Given the description of an element on the screen output the (x, y) to click on. 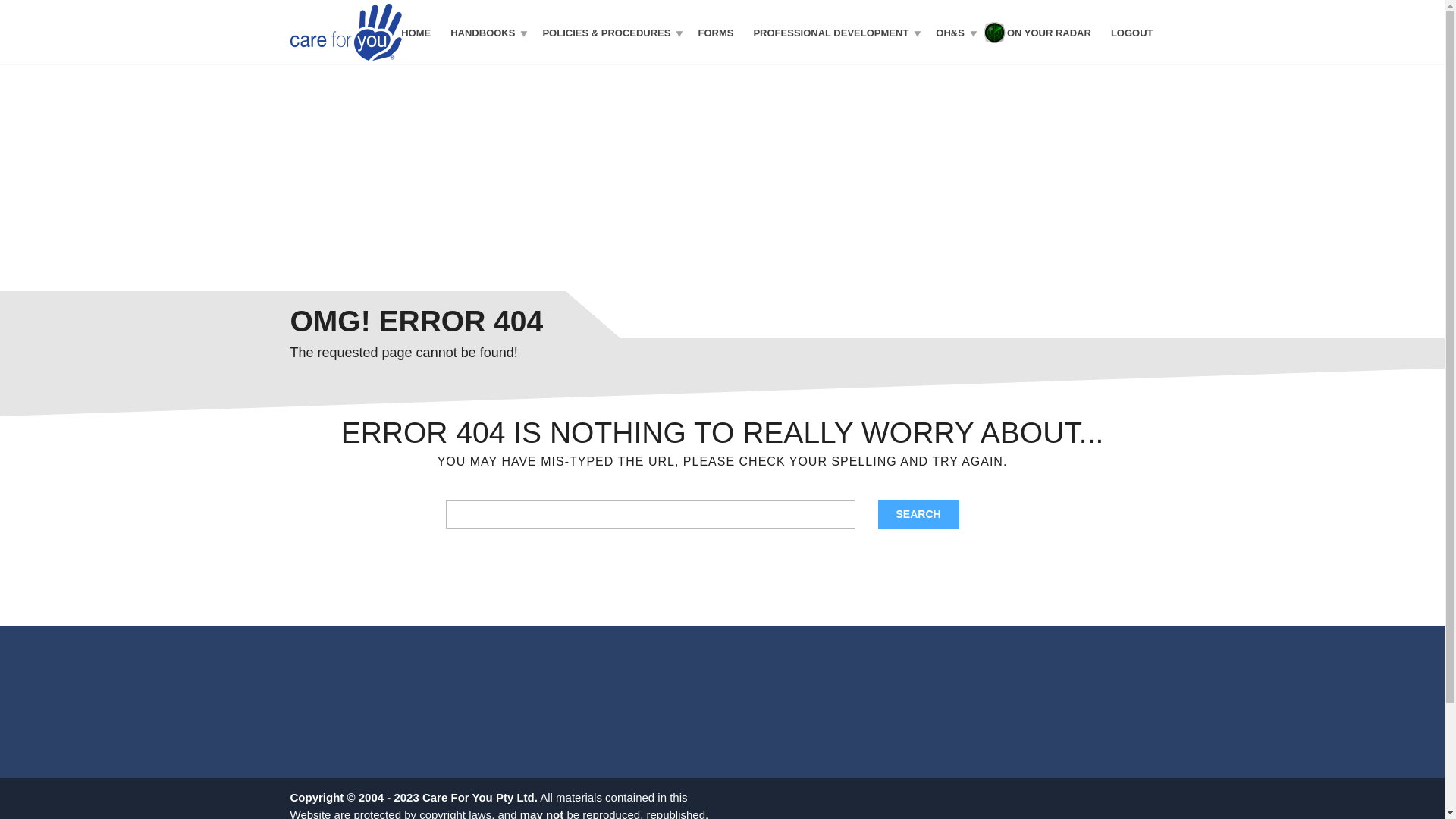
LOGOUT (1131, 32)
ON YOUR RADAR (1048, 32)
On Your Radar (1048, 32)
Professional Development (834, 32)
Home (416, 32)
Handbooks (486, 32)
HANDBOOKS (486, 32)
Logout (1131, 32)
FORMS (714, 32)
HOME (416, 32)
